Given the description of an element on the screen output the (x, y) to click on. 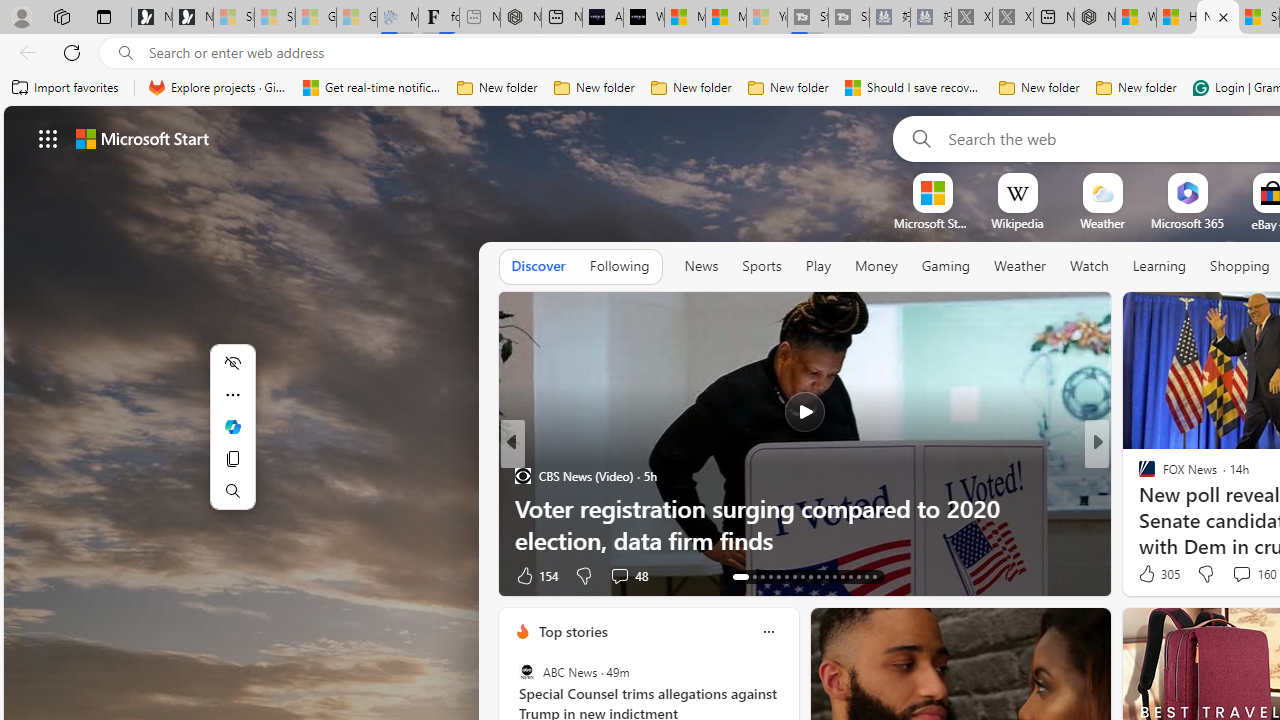
Newsweek (1138, 475)
AutomationID: tab-15 (761, 576)
Streaming Coverage | T3 - Sleeping (808, 17)
104 Like (1151, 574)
Dislike (1204, 574)
View comments 26 Comment (1237, 574)
New tab (1217, 17)
Workspaces (61, 16)
Class: icon-img (768, 632)
News (701, 265)
AutomationID: tab-21 (810, 576)
Money (876, 267)
